Given the description of an element on the screen output the (x, y) to click on. 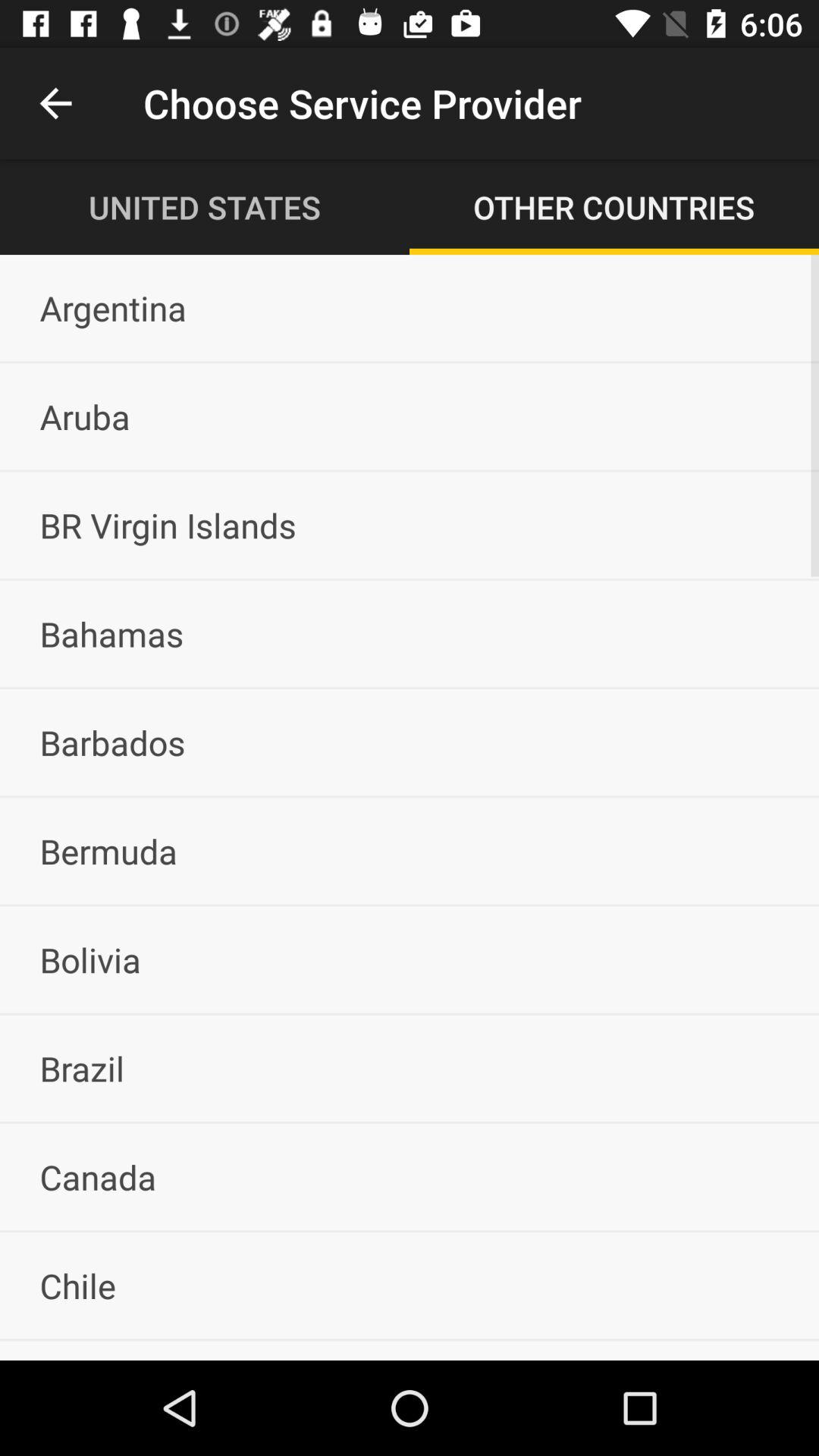
scroll until barbados item (409, 742)
